Given the description of an element on the screen output the (x, y) to click on. 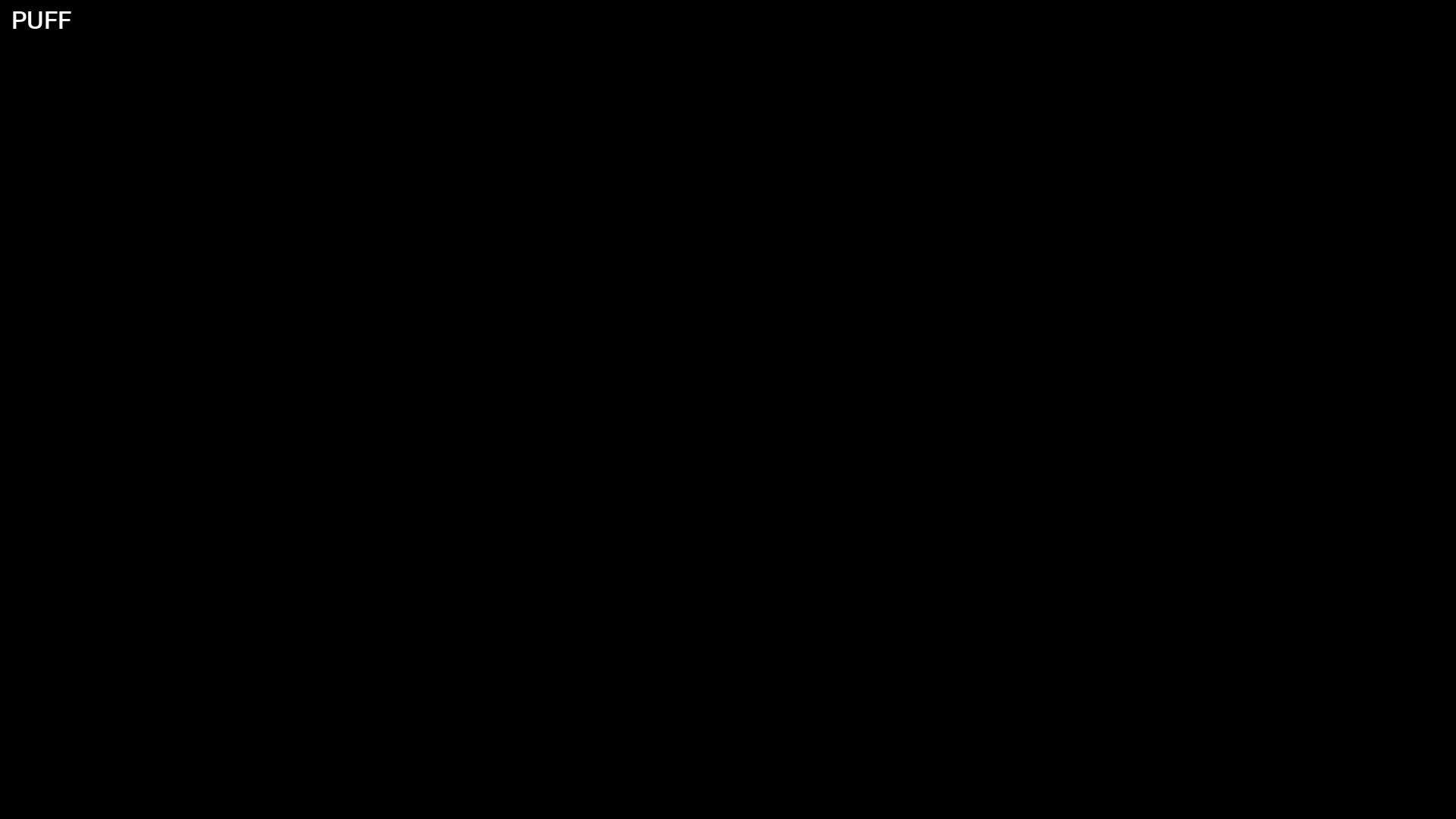
Hall Element type: text (391, 52)
Spaces Element type: text (410, 17)
Set 2 Element type: text (537, 52)
Set 3 Element type: text (616, 52)
Meridiana 34-36 08018 BCN Element type: text (1210, 17)
Home Element type: text (44, 17)
Client Lounge Element type: text (745, 52)
Contact Element type: text (771, 17)
ENGLISH Element type: text (75, 802)
Production Office Element type: text (940, 52)
Set 1 Element type: text (461, 52)
